Given the description of an element on the screen output the (x, y) to click on. 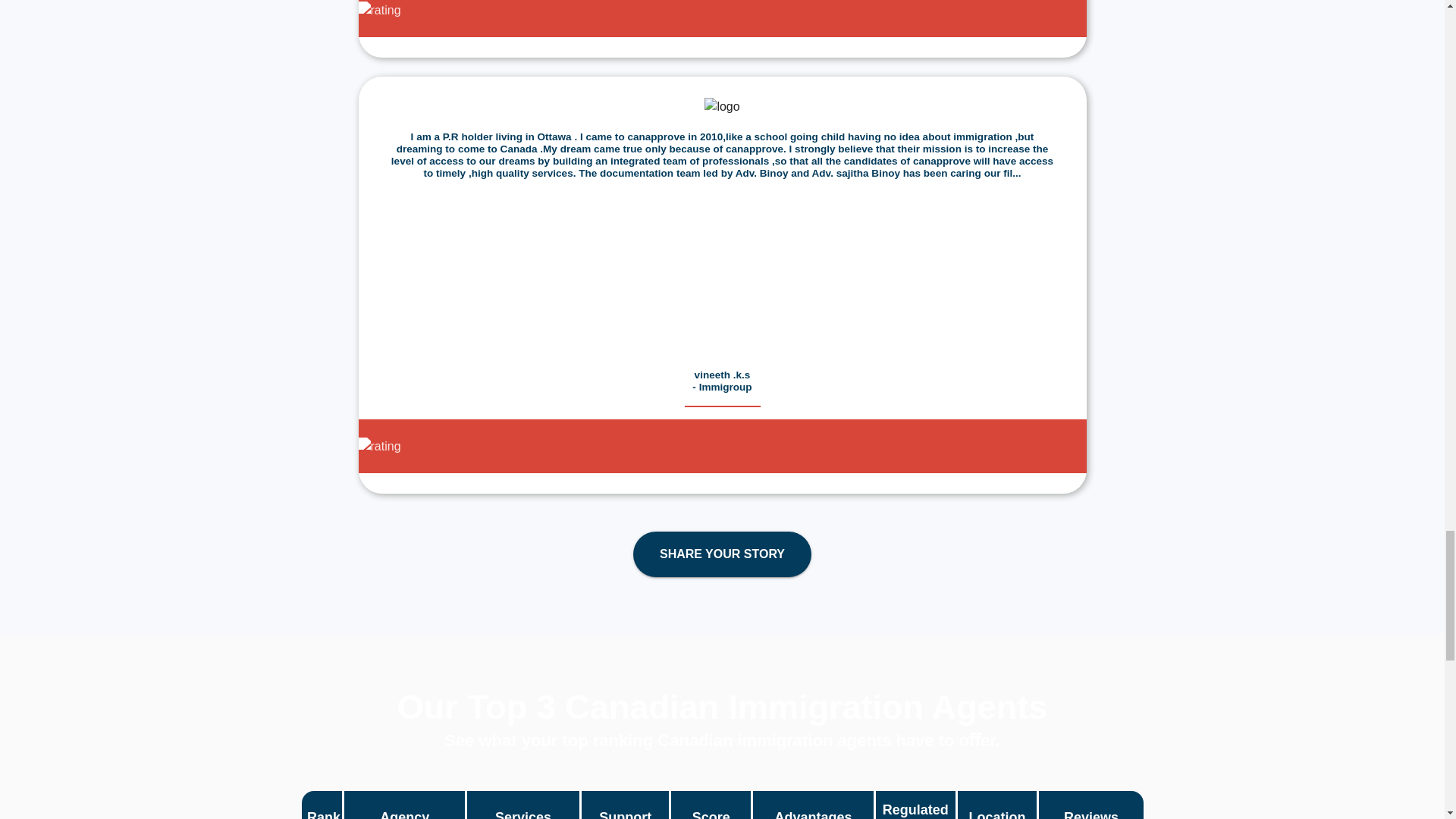
SHARE YOUR STORY (721, 554)
